Given the description of an element on the screen output the (x, y) to click on. 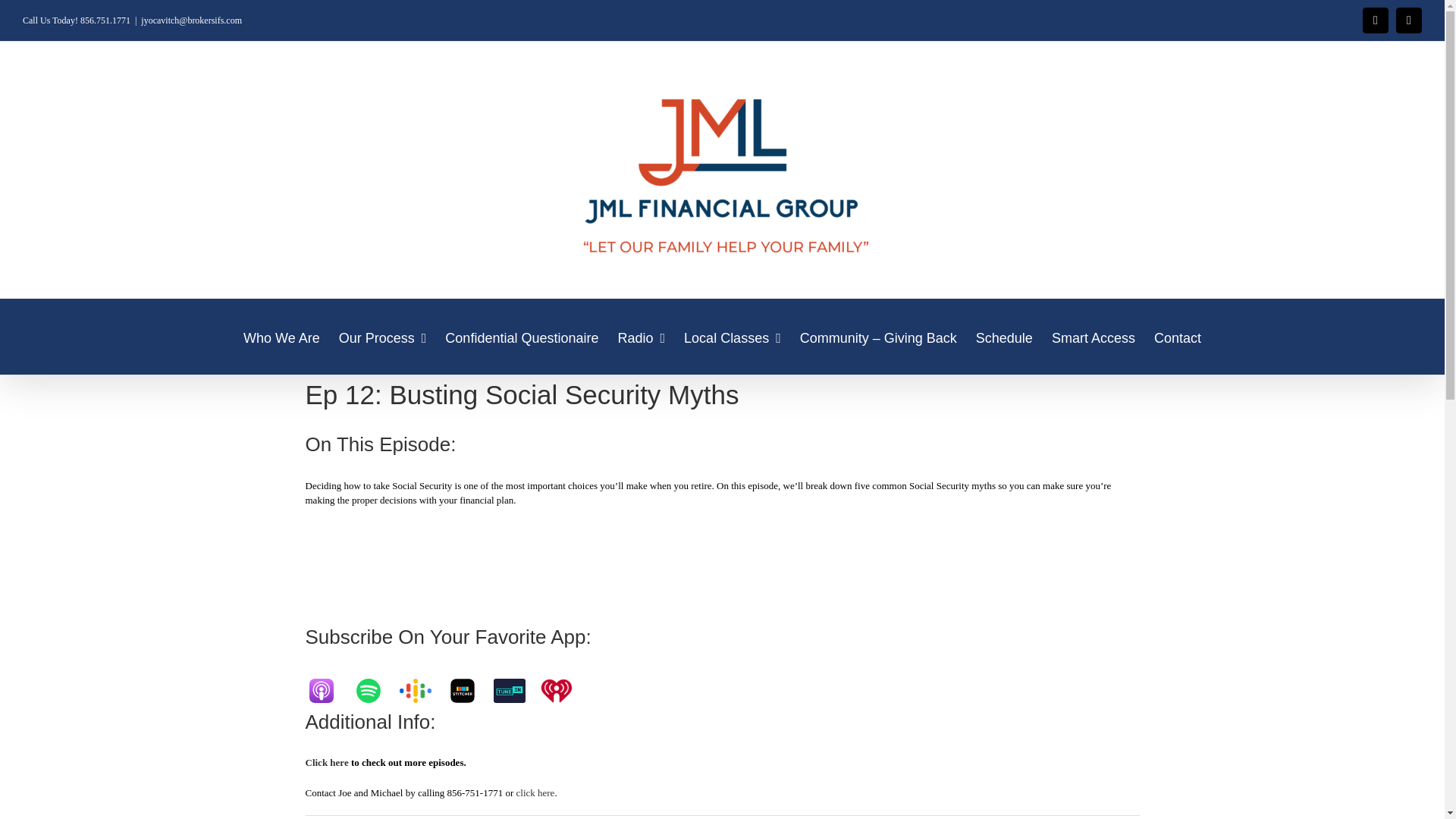
Confidential Questionaire (521, 336)
LinkedIn (1409, 20)
Smart Access (1093, 336)
iHeartRadio (563, 690)
TuneIn (516, 690)
Our Process (382, 336)
Facebook (1375, 20)
click here (534, 792)
Apple-Podcasts (328, 690)
Spotify (375, 690)
